Given the description of an element on the screen output the (x, y) to click on. 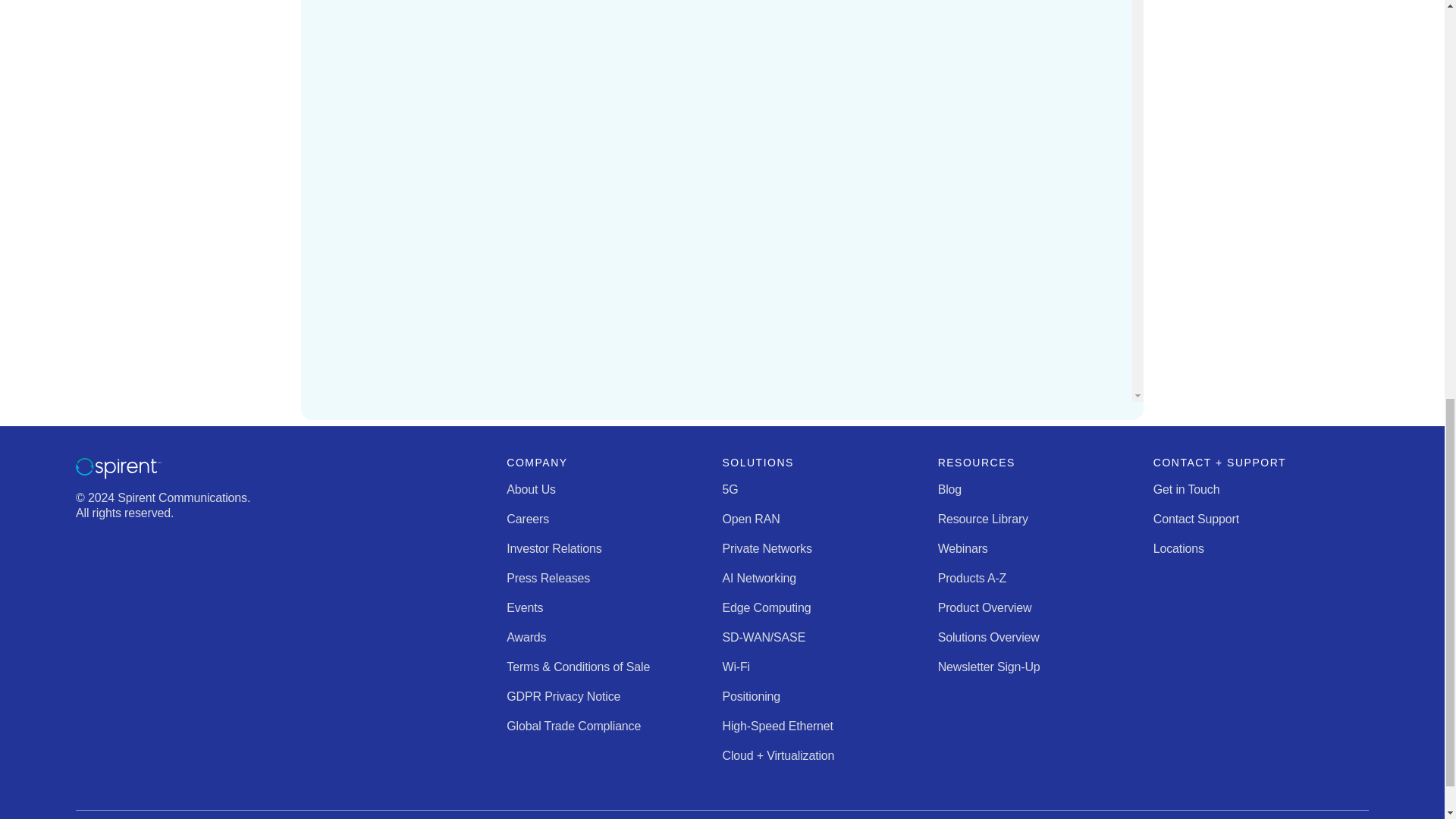
Events (524, 607)
Careers (527, 518)
Private Networks (766, 548)
Positioning (751, 696)
Awards (526, 636)
Press Releases (547, 577)
5G (730, 489)
About Us (531, 489)
Edge Computing (766, 607)
Investor Relations (553, 548)
